Given the description of an element on the screen output the (x, y) to click on. 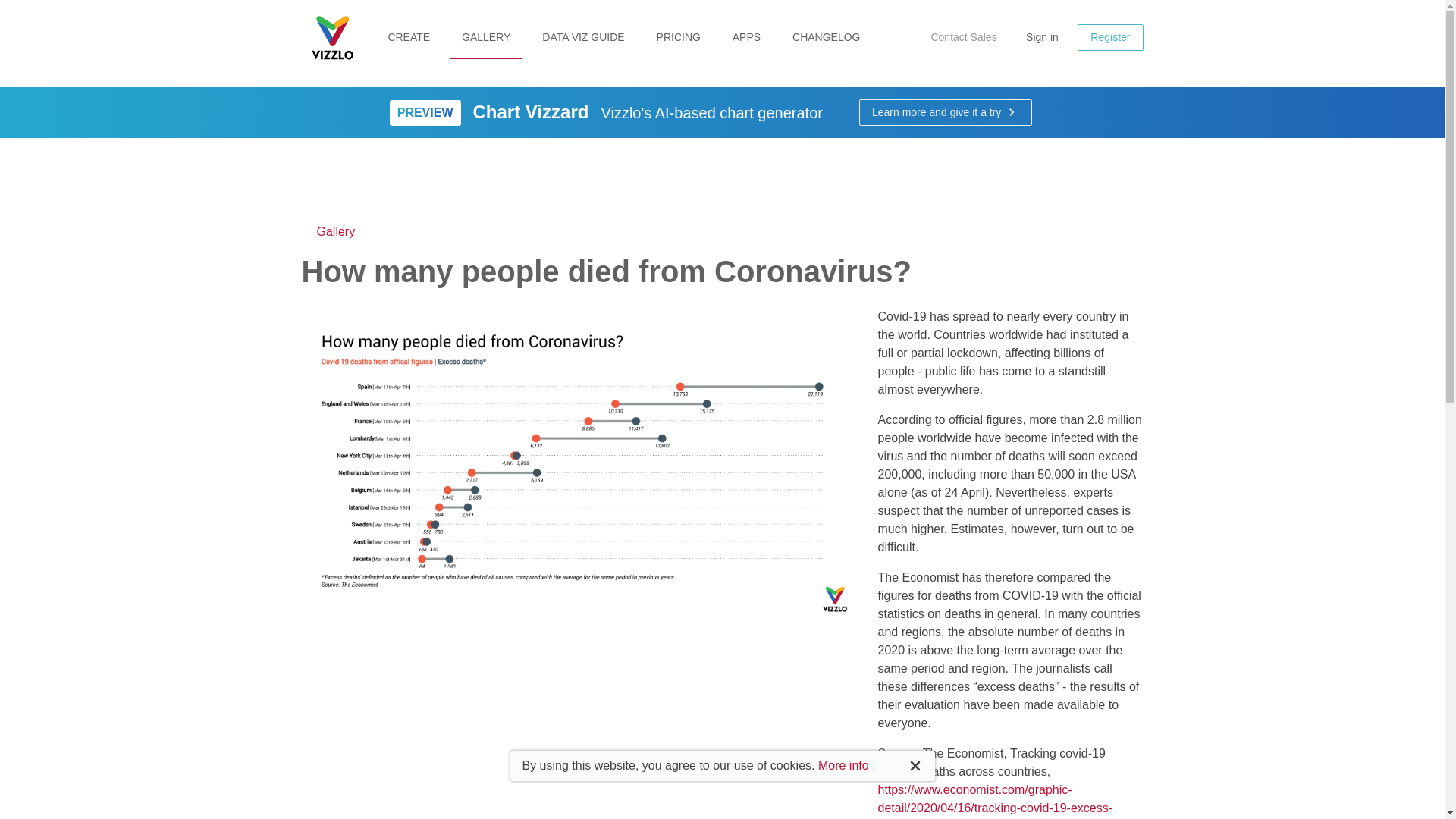
GALLERY (485, 37)
DATA VIZ GUIDE (582, 37)
Gallery (328, 231)
Contact Sales (963, 37)
Learn more and give it a try (945, 112)
PRICING (679, 37)
small-cross (737, 421)
CHANGELOG (826, 37)
APPS (746, 37)
Sign in (1042, 37)
